Given the description of an element on the screen output the (x, y) to click on. 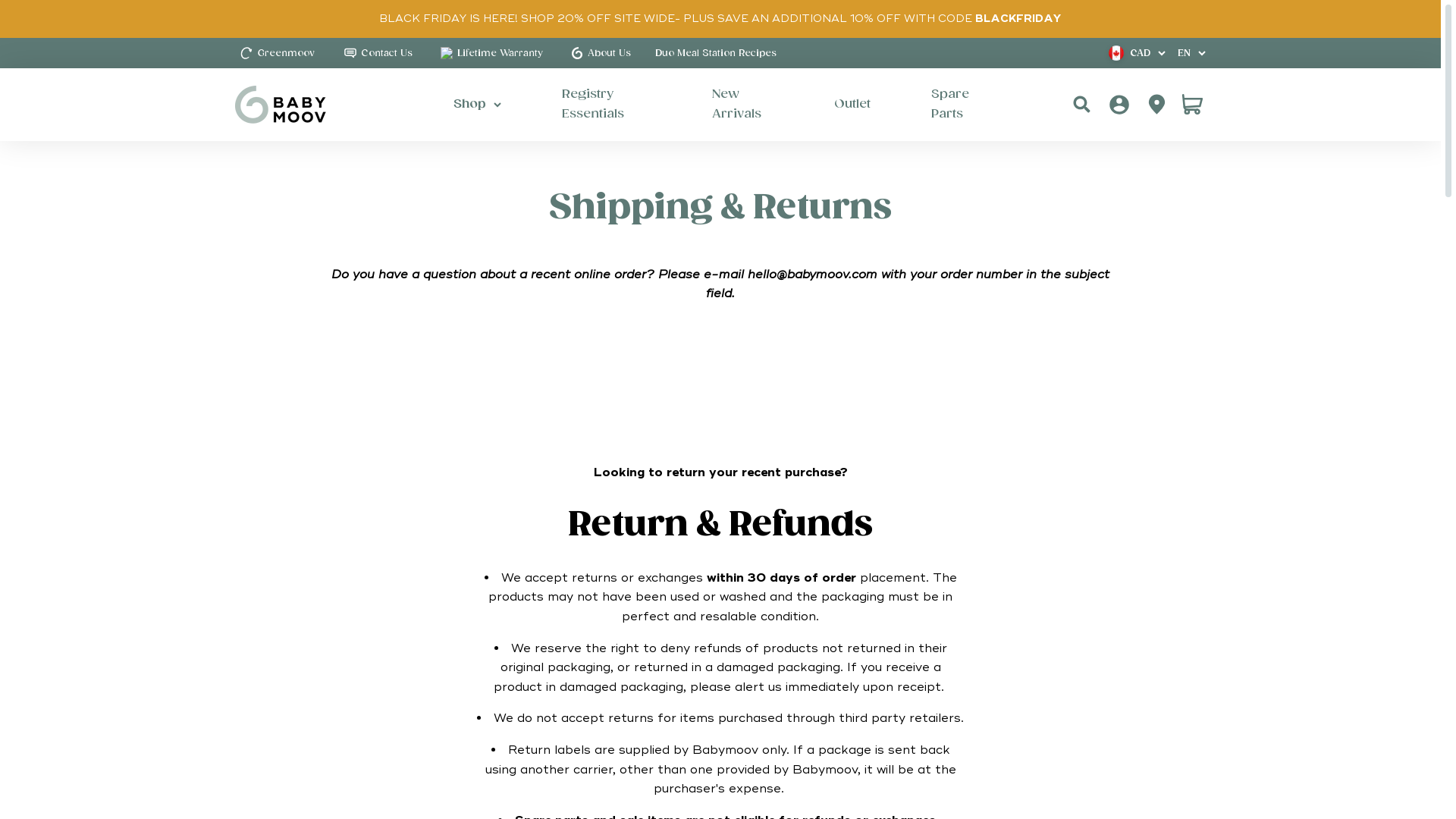
Registry Essentials Element type: text (606, 104)
Open account page Element type: text (1119, 104)
Outlet Element type: text (852, 105)
Babymoov Element type: text (280, 104)
New Arrivals Element type: text (742, 104)
Open search Element type: text (1081, 104)
Open cart
0 Element type: text (1192, 104)
Spare Parts Element type: text (959, 104)
EN Element type: text (1191, 53)
About Us Element type: text (598, 53)
Contact Us Element type: text (375, 52)
CAD Element type: text (1136, 52)
Greenmoov Element type: text (274, 52)
Duo Meal Station Recipes Element type: text (715, 53)
Open account page Element type: text (1156, 104)
Lifetime Warranty Element type: text (489, 53)
